Given the description of an element on the screen output the (x, y) to click on. 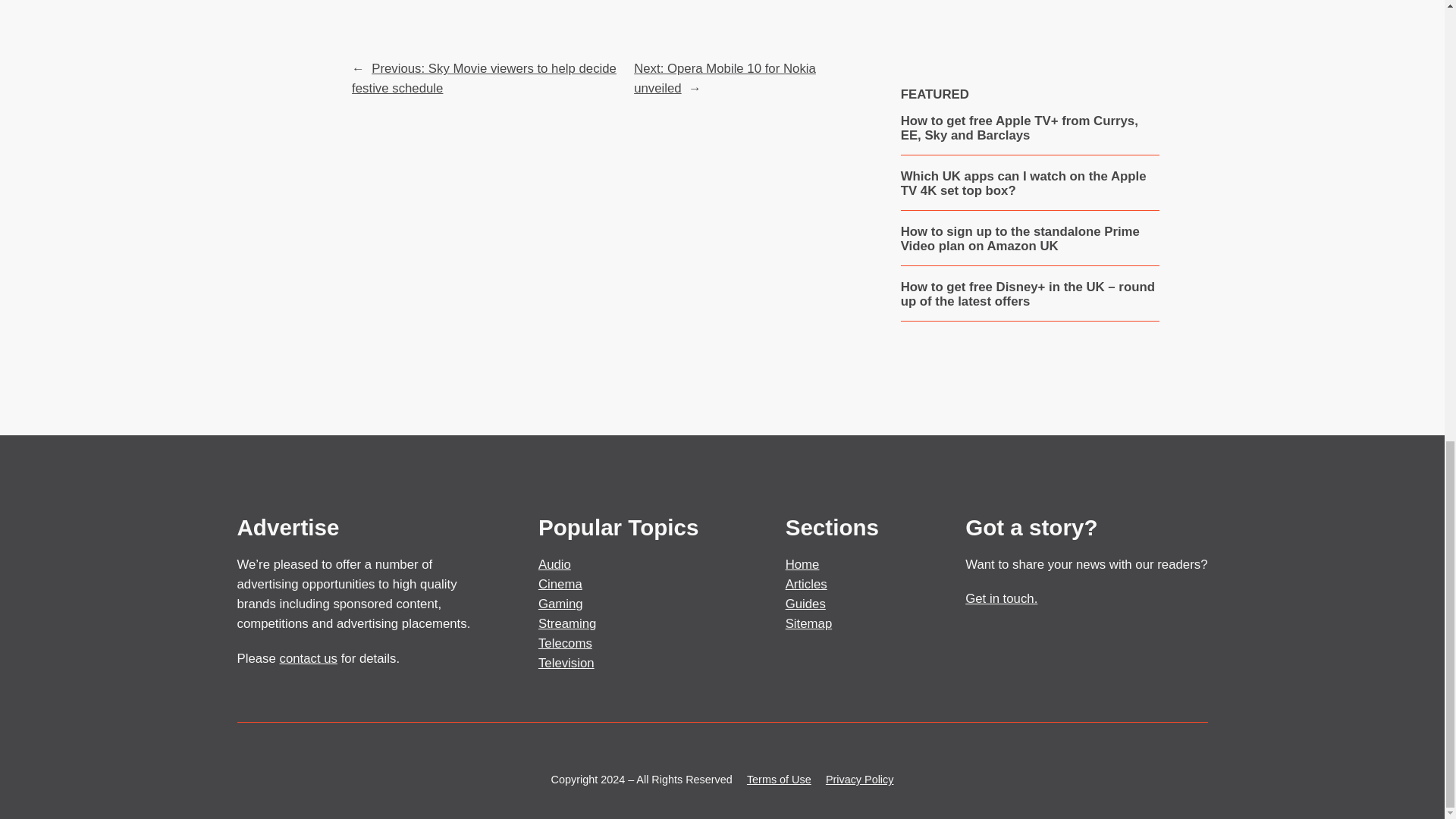
Sitemap (809, 623)
Home (802, 564)
Audio (554, 564)
Telecoms (565, 643)
Gaming (560, 603)
Advertisement (1028, 14)
Articles (806, 584)
Terms of Use (778, 779)
Cinema (560, 584)
Previous: Sky Movie viewers to help decide festive schedule (483, 78)
